Given the description of an element on the screen output the (x, y) to click on. 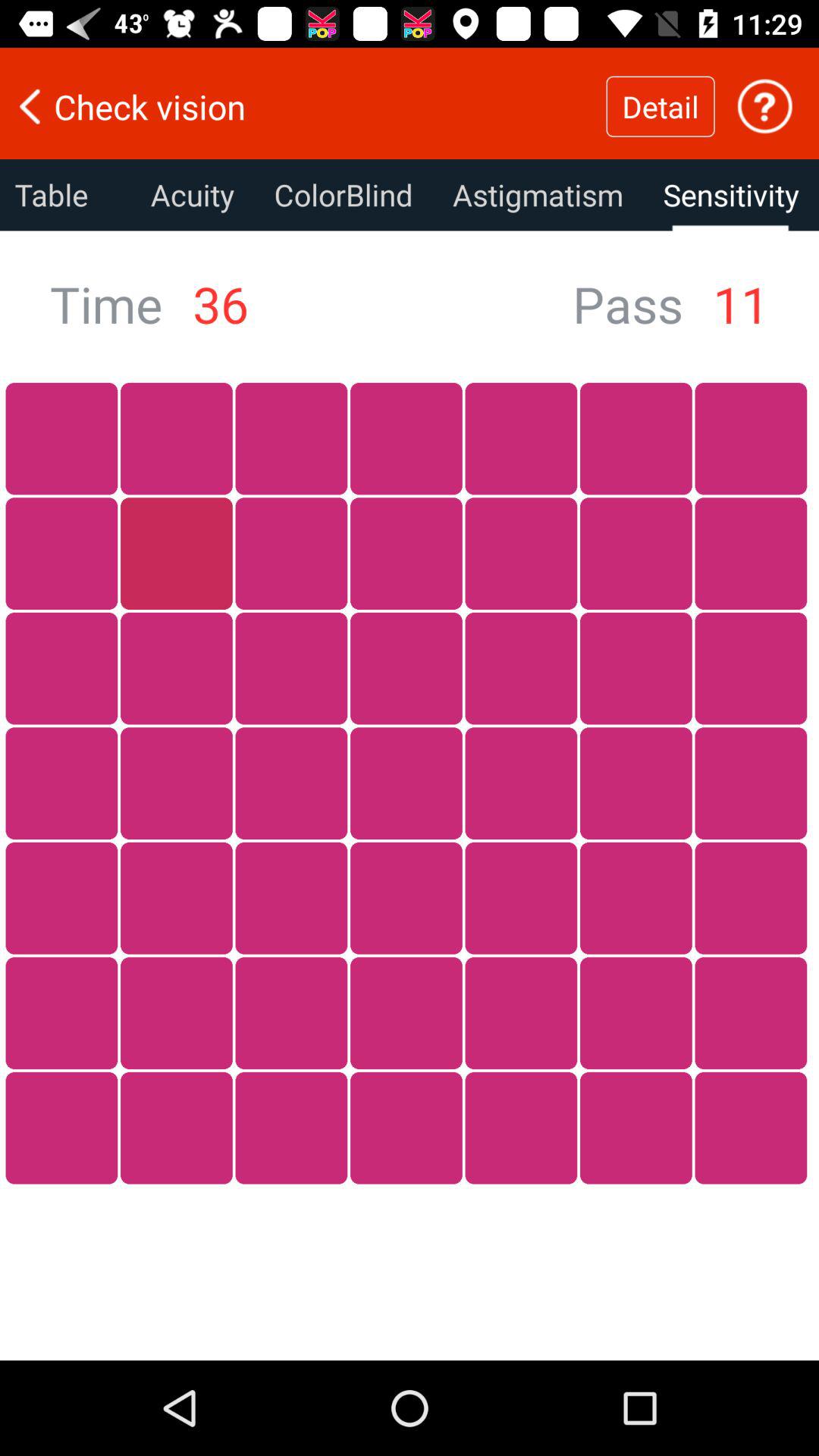
tap item next to the check vision item (660, 106)
